Given the description of an element on the screen output the (x, y) to click on. 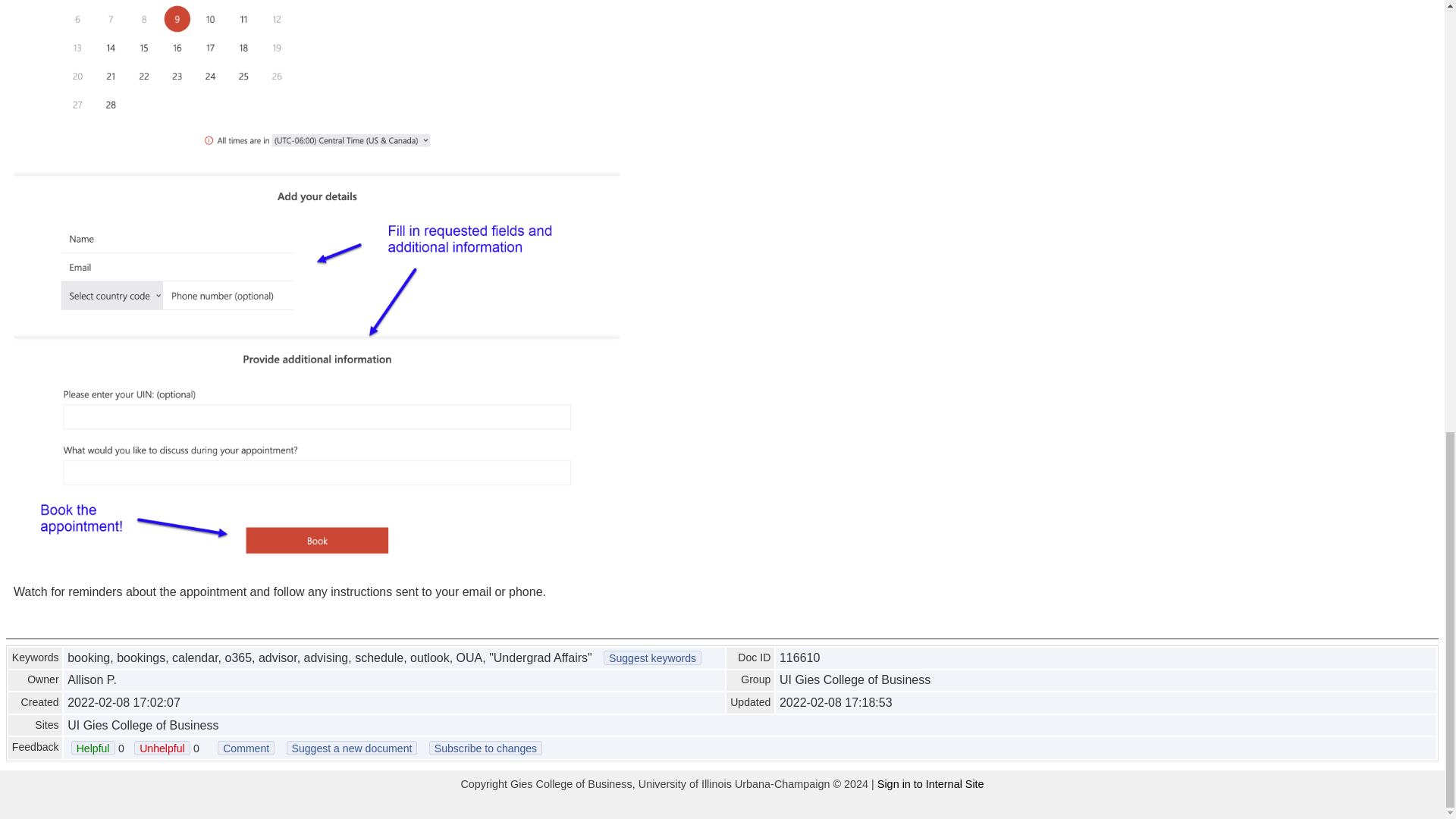
Subscribe to changes (485, 748)
Suggest a new document (351, 748)
Helpful (93, 748)
Sign in to Internal Site (930, 784)
Unhelpful (161, 748)
Suggest keywords (652, 657)
Comment (245, 748)
